Given the description of an element on the screen output the (x, y) to click on. 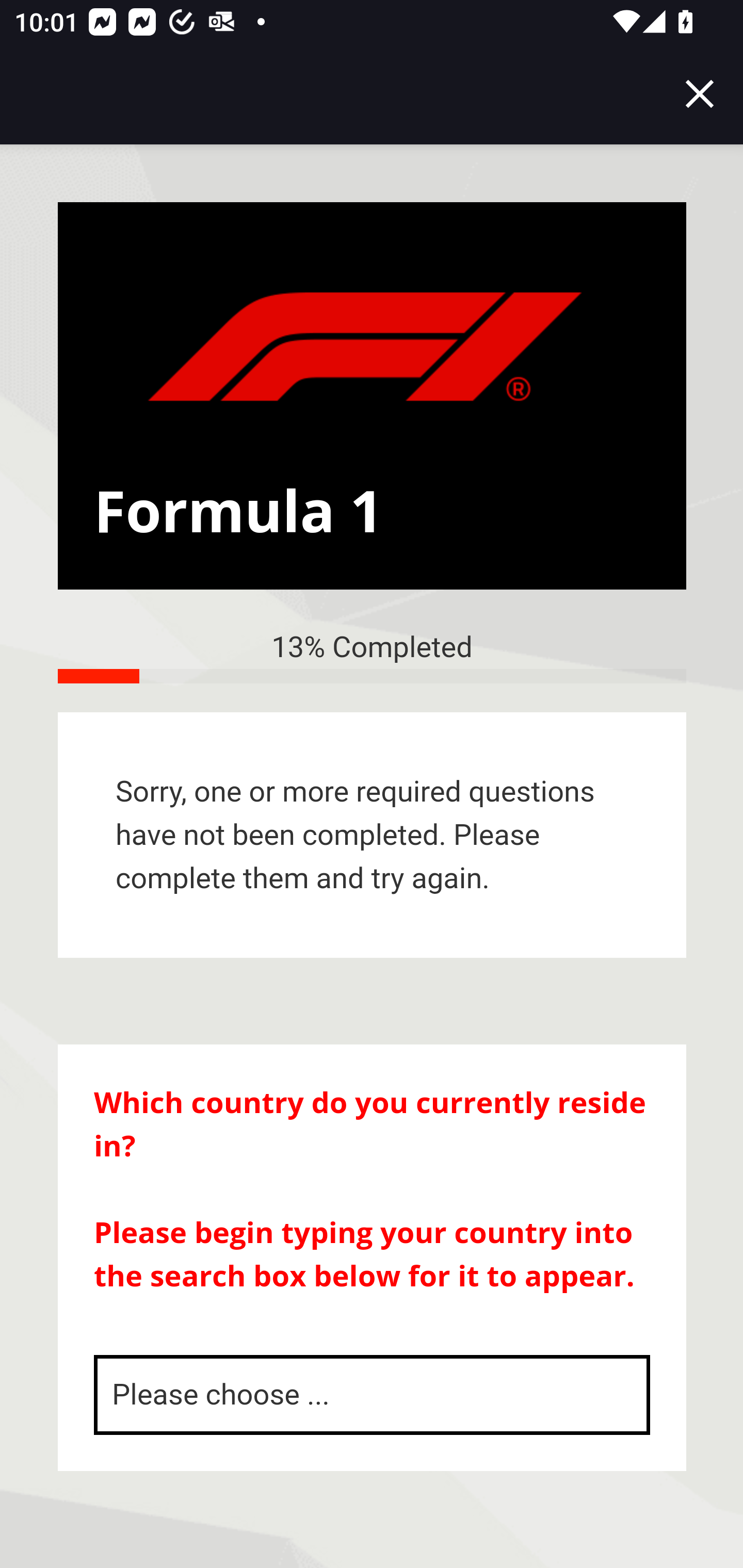
Close (699, 93)
Please choose ... (372, 1394)
